Given the description of an element on the screen output the (x, y) to click on. 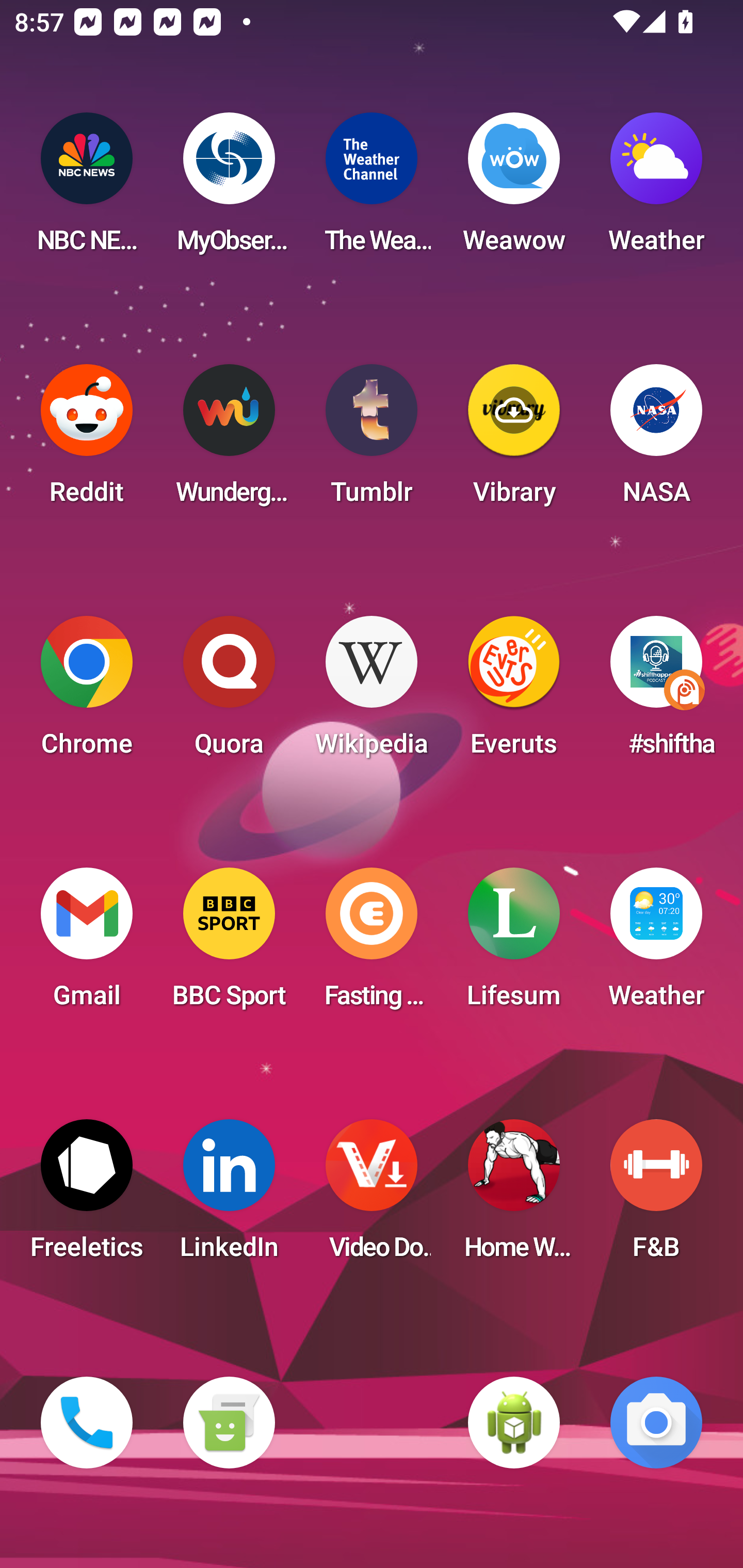
NBC NEWS (86, 188)
MyObservatory (228, 188)
The Weather Channel (371, 188)
Weawow (513, 188)
Weather (656, 188)
Reddit (86, 440)
Wunderground (228, 440)
Tumblr (371, 440)
Vibrary (513, 440)
NASA (656, 440)
Chrome (86, 692)
Quora (228, 692)
Wikipedia (371, 692)
Everuts (513, 692)
#shifthappens in the Digital Workplace Podcast (656, 692)
Gmail (86, 943)
BBC Sport (228, 943)
Fasting Coach (371, 943)
Lifesum (513, 943)
Weather (656, 943)
Freeletics (86, 1195)
LinkedIn (228, 1195)
Video Downloader & Ace Player (371, 1195)
Home Workout (513, 1195)
F&B (656, 1195)
Phone (86, 1422)
Messaging (228, 1422)
WebView Browser Tester (513, 1422)
Camera (656, 1422)
